Given the description of an element on the screen output the (x, y) to click on. 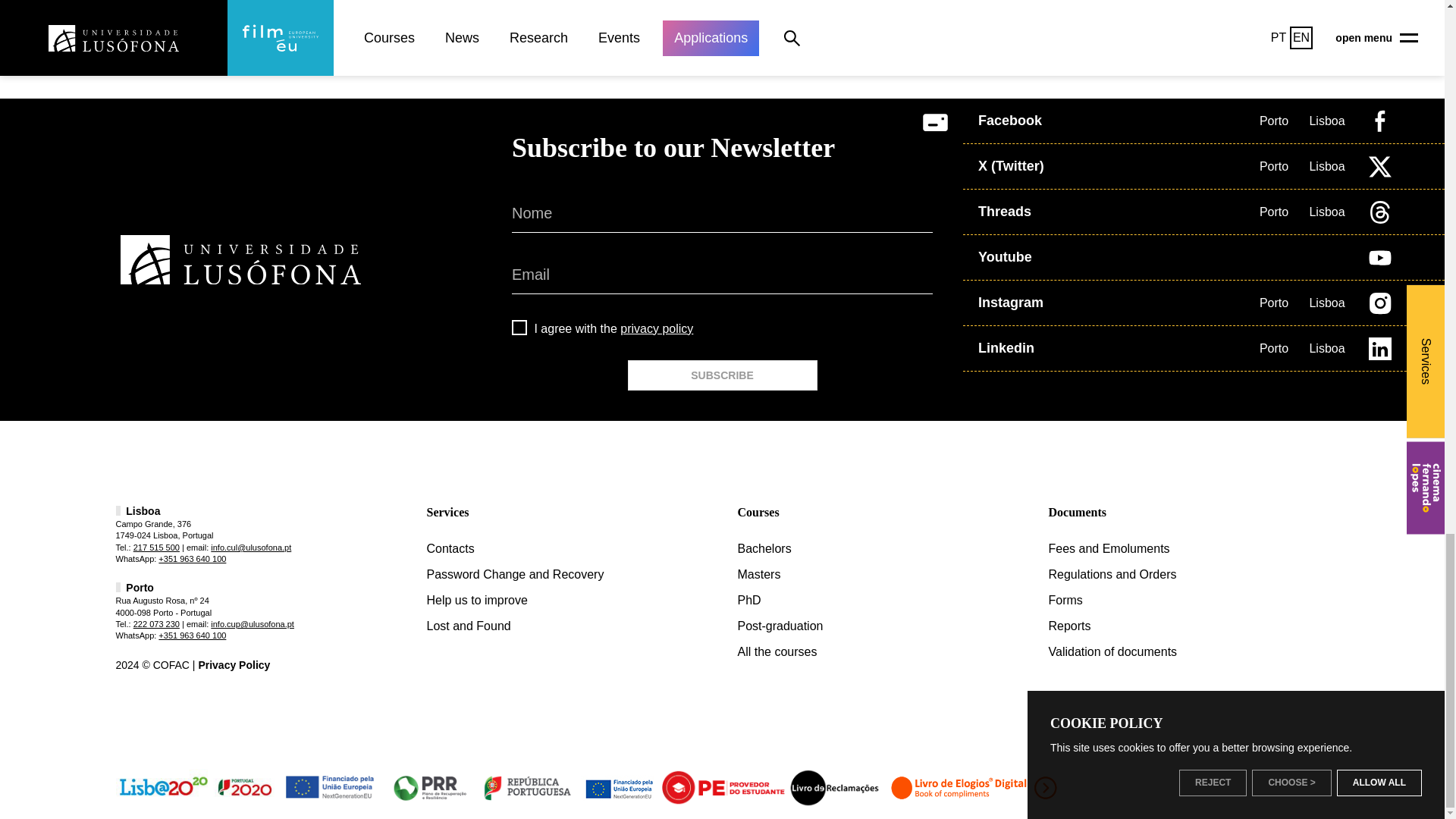
Custo da chamada para rede fixa nacional (156, 623)
Custo da chamada para rede fixa nacional (156, 547)
